Given the description of an element on the screen output the (x, y) to click on. 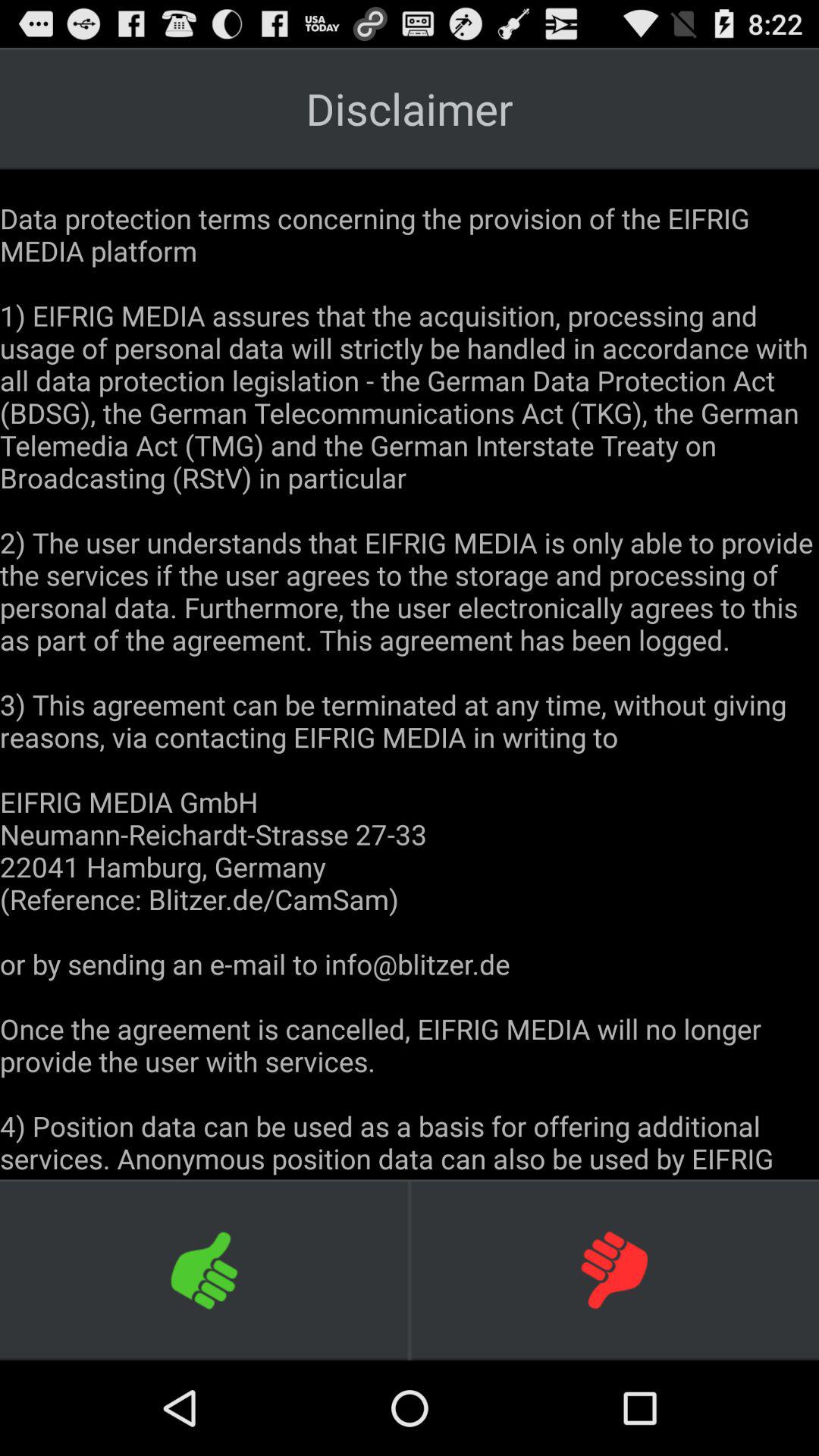
tap the app below data protection terms item (204, 1269)
